Given the description of an element on the screen output the (x, y) to click on. 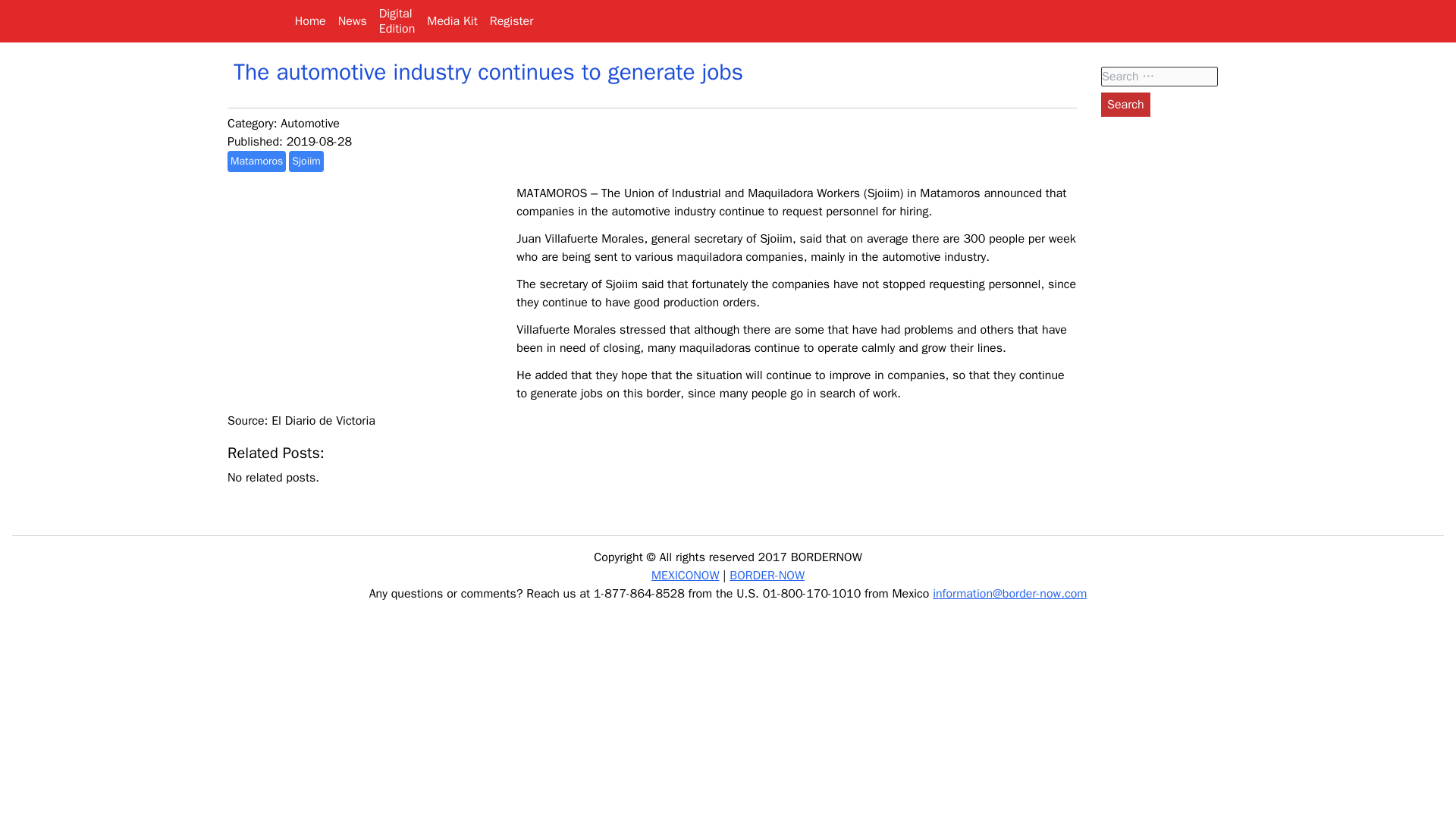
MEXICONOW (684, 575)
Matamoros Tag (256, 160)
Search (1125, 104)
Home (309, 21)
Register (511, 21)
BORDER-NOW (767, 575)
Search (1125, 104)
Matamoros (256, 160)
Search (1125, 104)
Sjoiim Tag (305, 160)
Sjoiim (305, 160)
Automotive (310, 123)
Media Kit (451, 21)
